Given the description of an element on the screen output the (x, y) to click on. 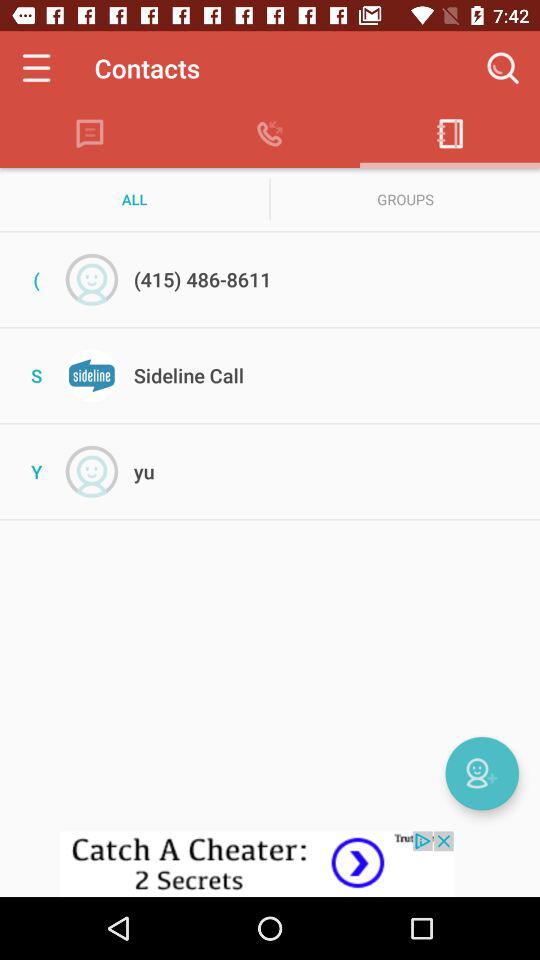
catch a cheater more (270, 864)
